Given the description of an element on the screen output the (x, y) to click on. 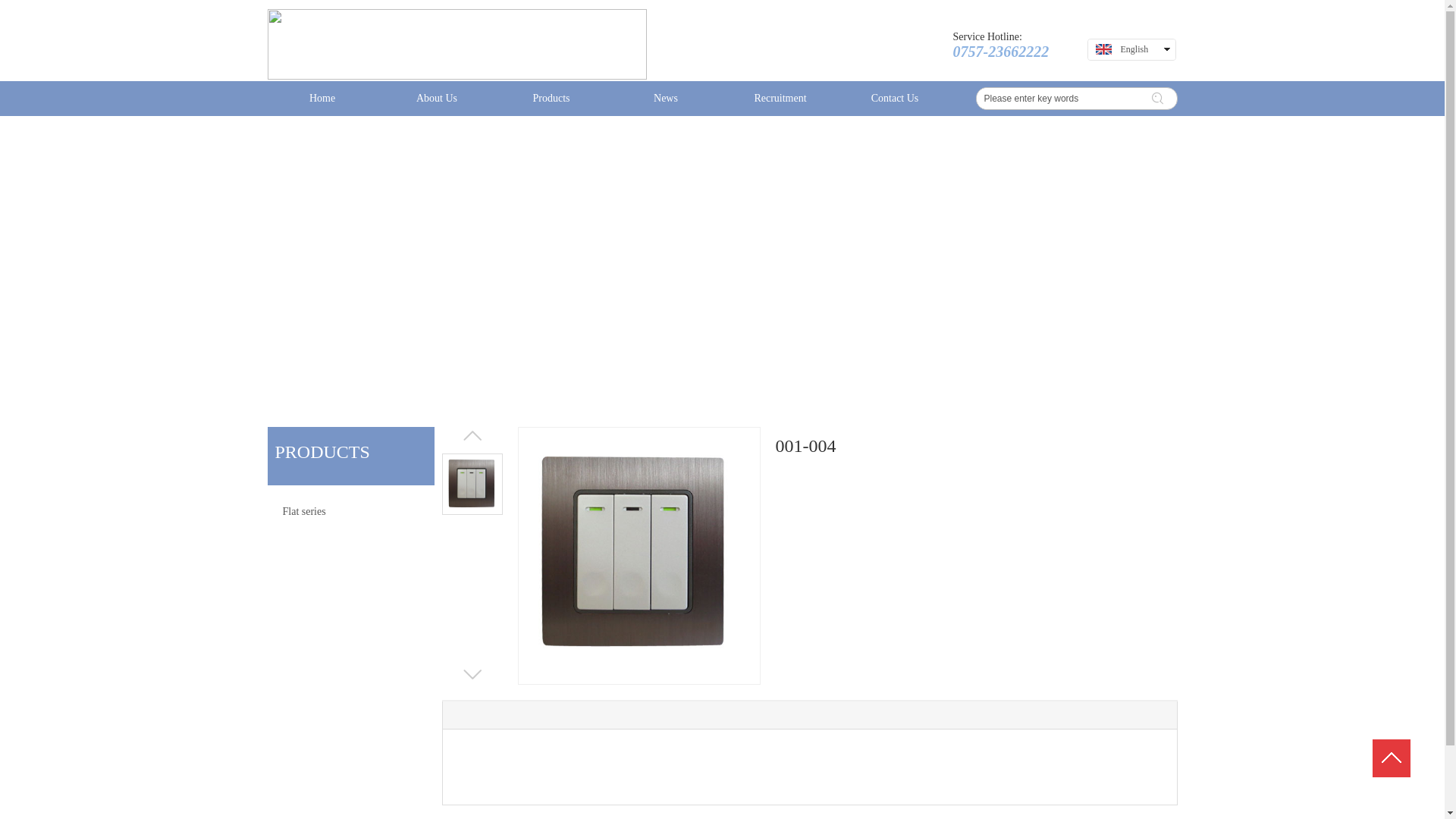
About Us Element type: text (437, 98)
Recruitment Element type: text (779, 98)
  English Element type: text (1132, 48)
Home Element type: text (321, 98)
News Element type: text (666, 98)
Flat series Element type: text (349, 511)
Products Element type: text (550, 98)
Contact Us Element type: text (895, 98)
